Given the description of an element on the screen output the (x, y) to click on. 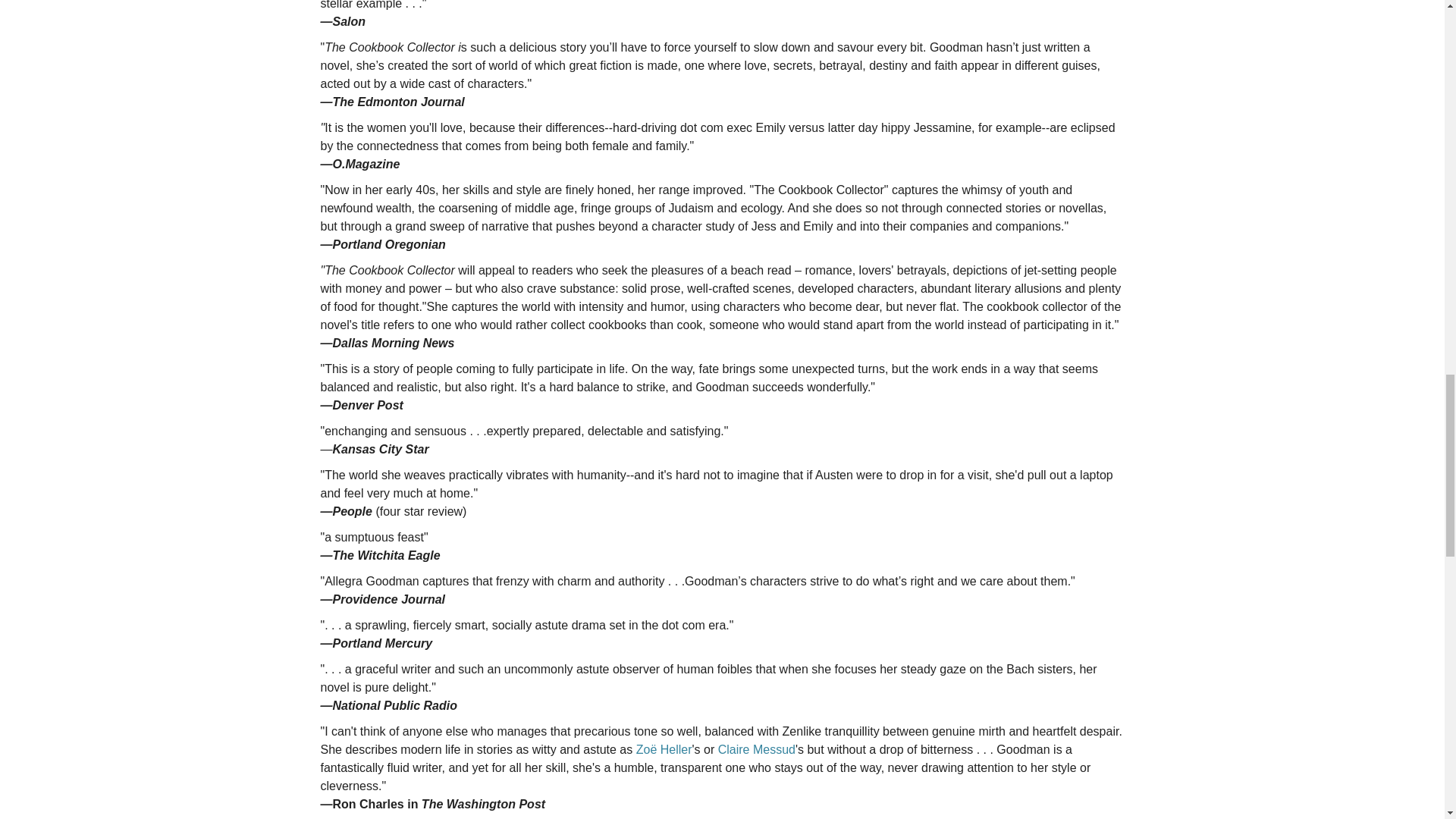
Claire Messud (755, 748)
